Given the description of an element on the screen output the (x, y) to click on. 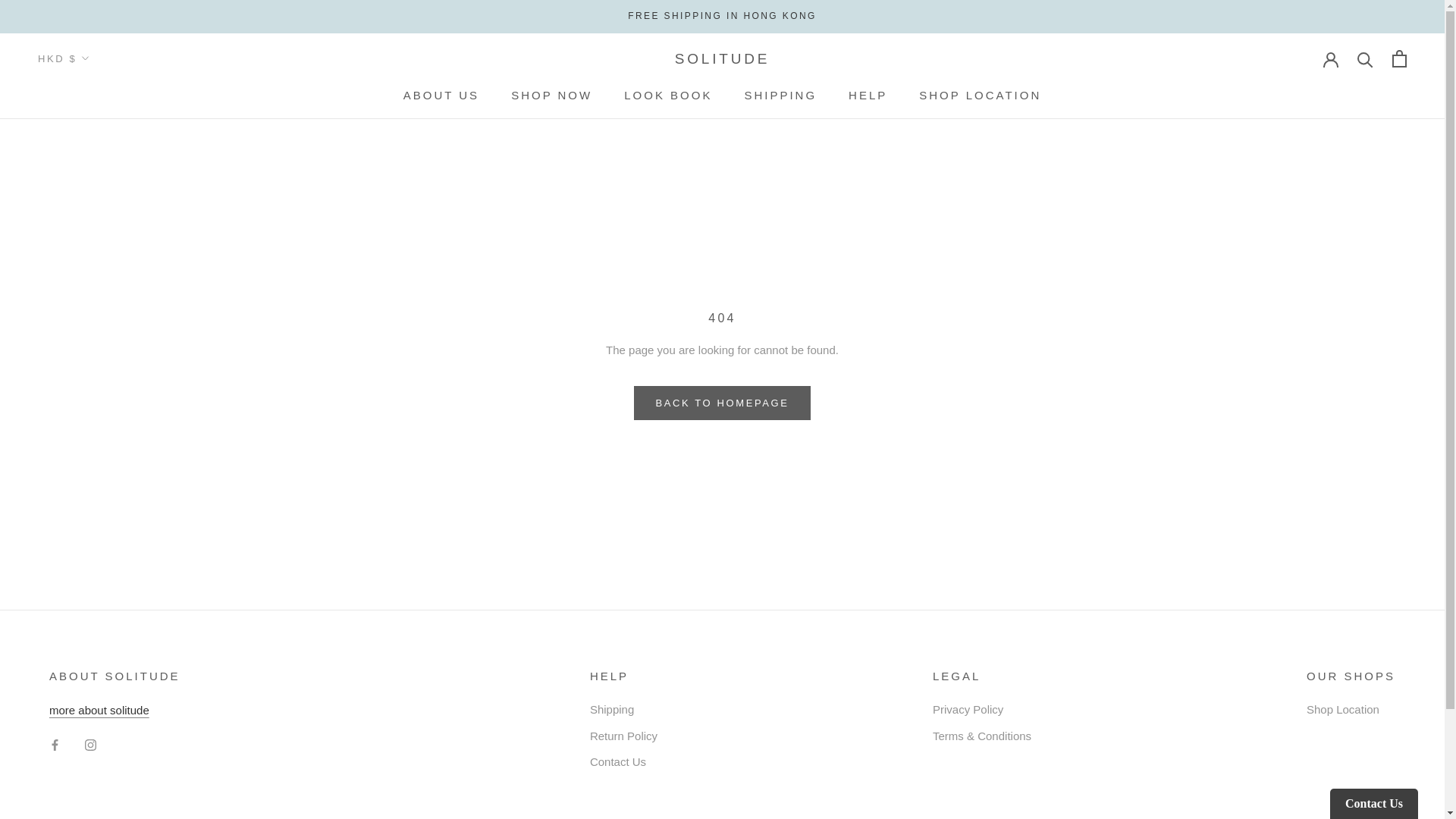
About solitude (441, 94)
SHOP NOW (99, 709)
